Given the description of an element on the screen output the (x, y) to click on. 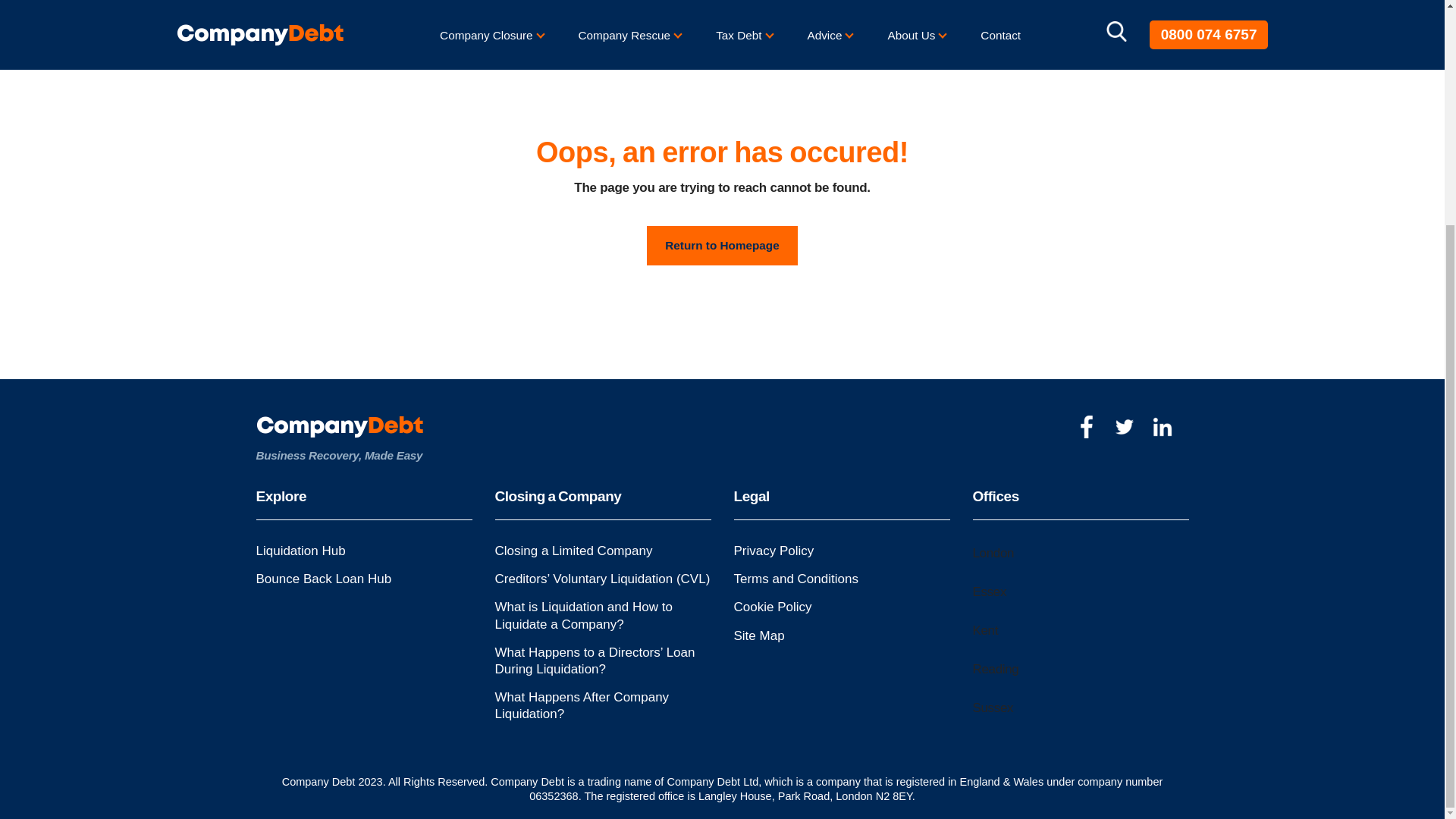
Closing a Limited Company (573, 550)
Return to Homepage (721, 245)
Bounce Back Loan Hub (323, 578)
Liquidation Hub (301, 550)
